Given the description of an element on the screen output the (x, y) to click on. 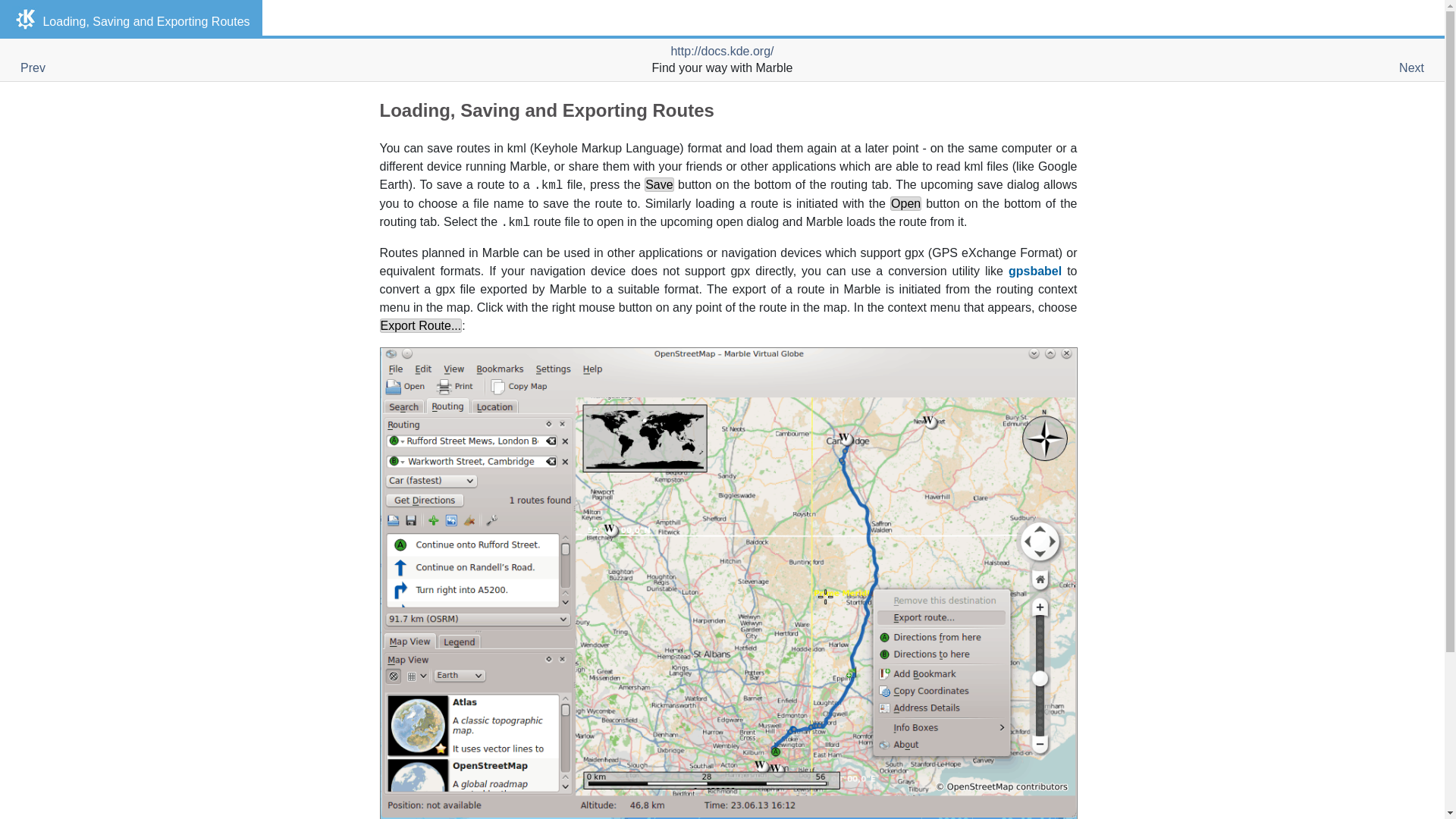
Prev (32, 67)
Next (1411, 67)
